Given the description of an element on the screen output the (x, y) to click on. 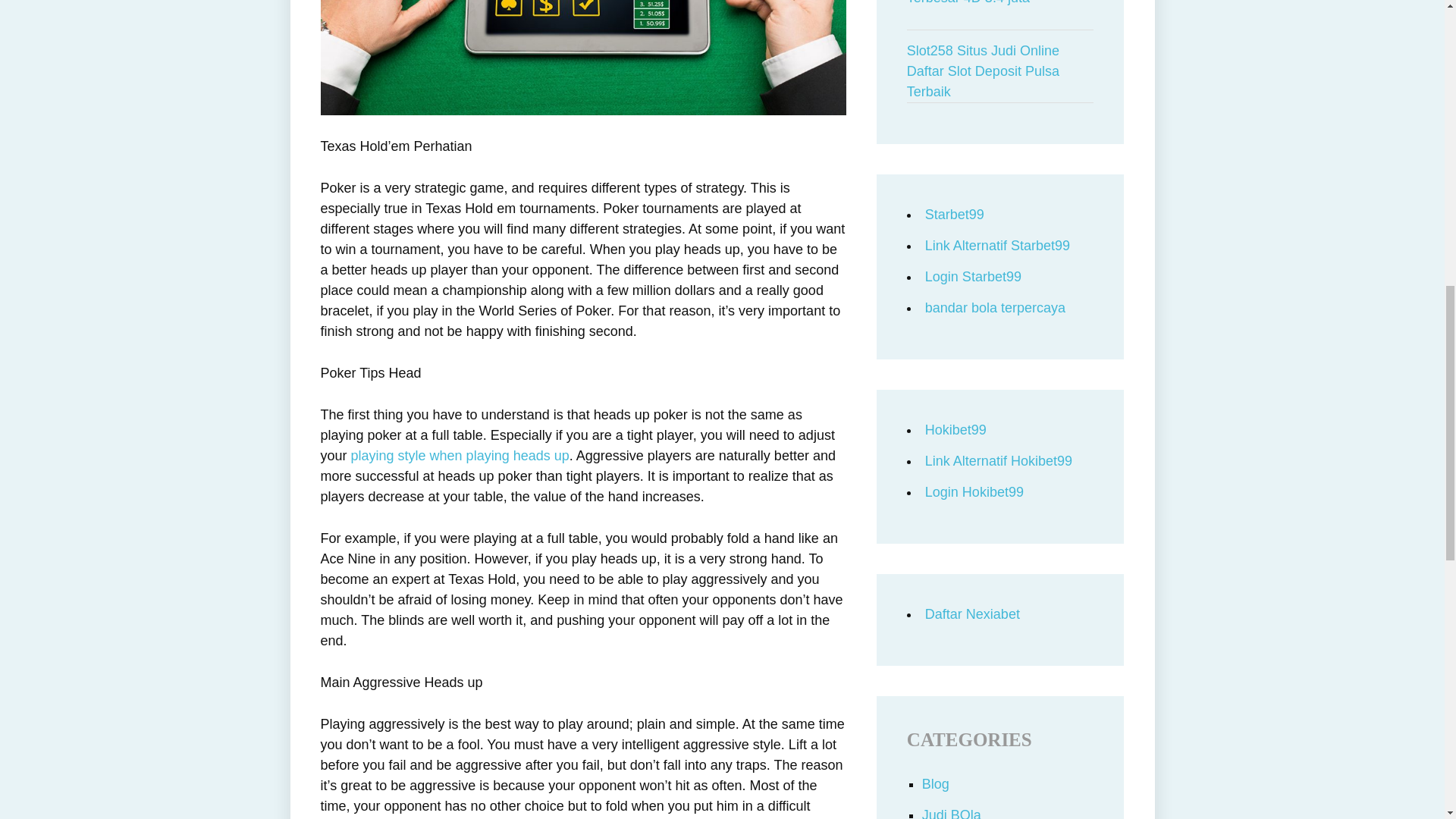
Link Alternatif Hokibet99 (997, 460)
Daftar Nexiabet (972, 613)
Login Starbet99 (973, 276)
bandar bola terpercaya (994, 307)
Hokibet99 (955, 429)
playing style when playing heads up (459, 455)
Judi BOla (951, 813)
Starbet99 (954, 214)
Login Hokibet99 (973, 491)
